Given the description of an element on the screen output the (x, y) to click on. 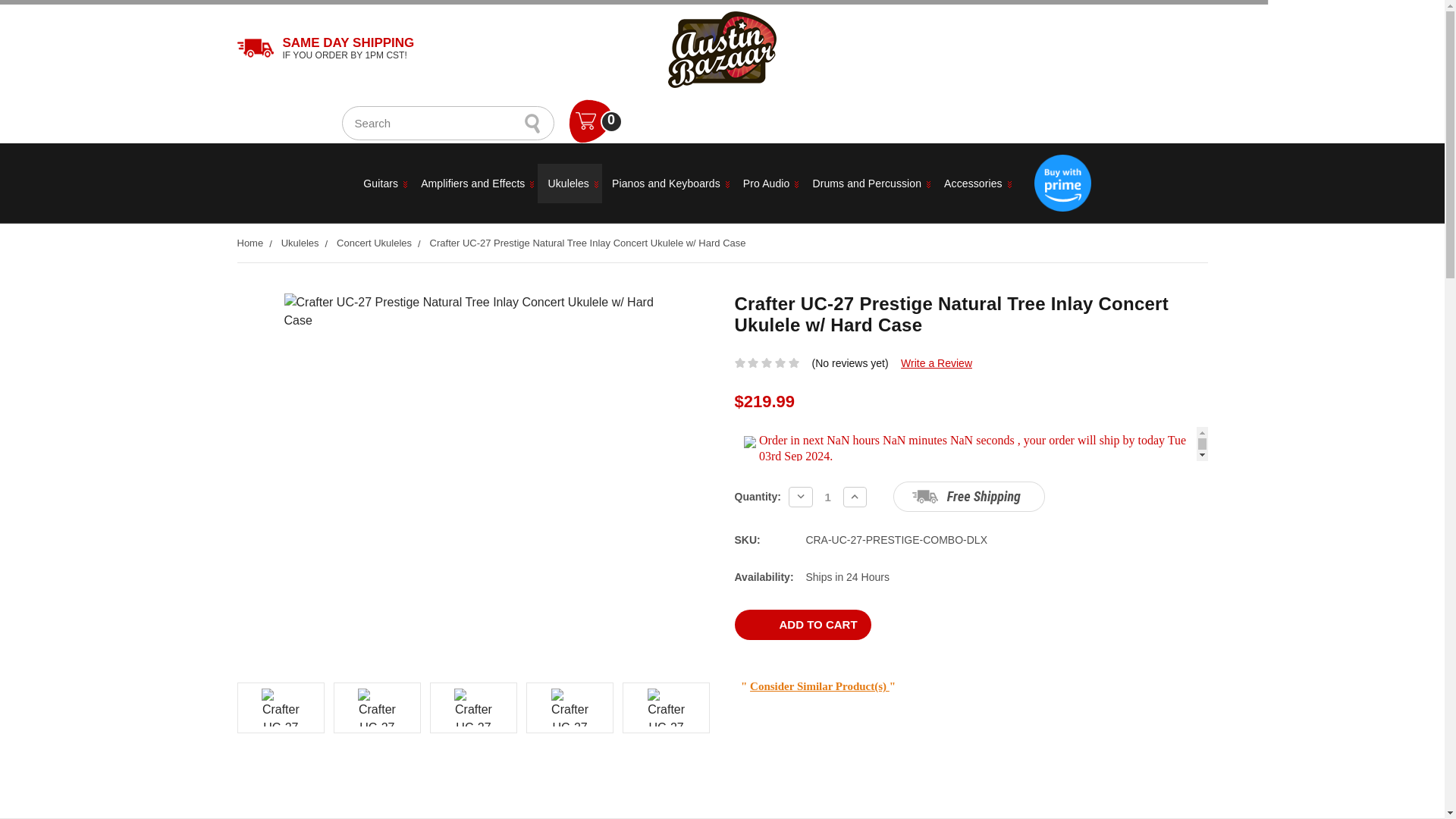
0 (595, 119)
Guitars (381, 183)
Add to Cart (801, 624)
1 (827, 496)
Ukuleles (569, 183)
Search (532, 123)
Amplifiers and Effects (473, 183)
Austin Bazaar (722, 49)
Search (532, 123)
